Given the description of an element on the screen output the (x, y) to click on. 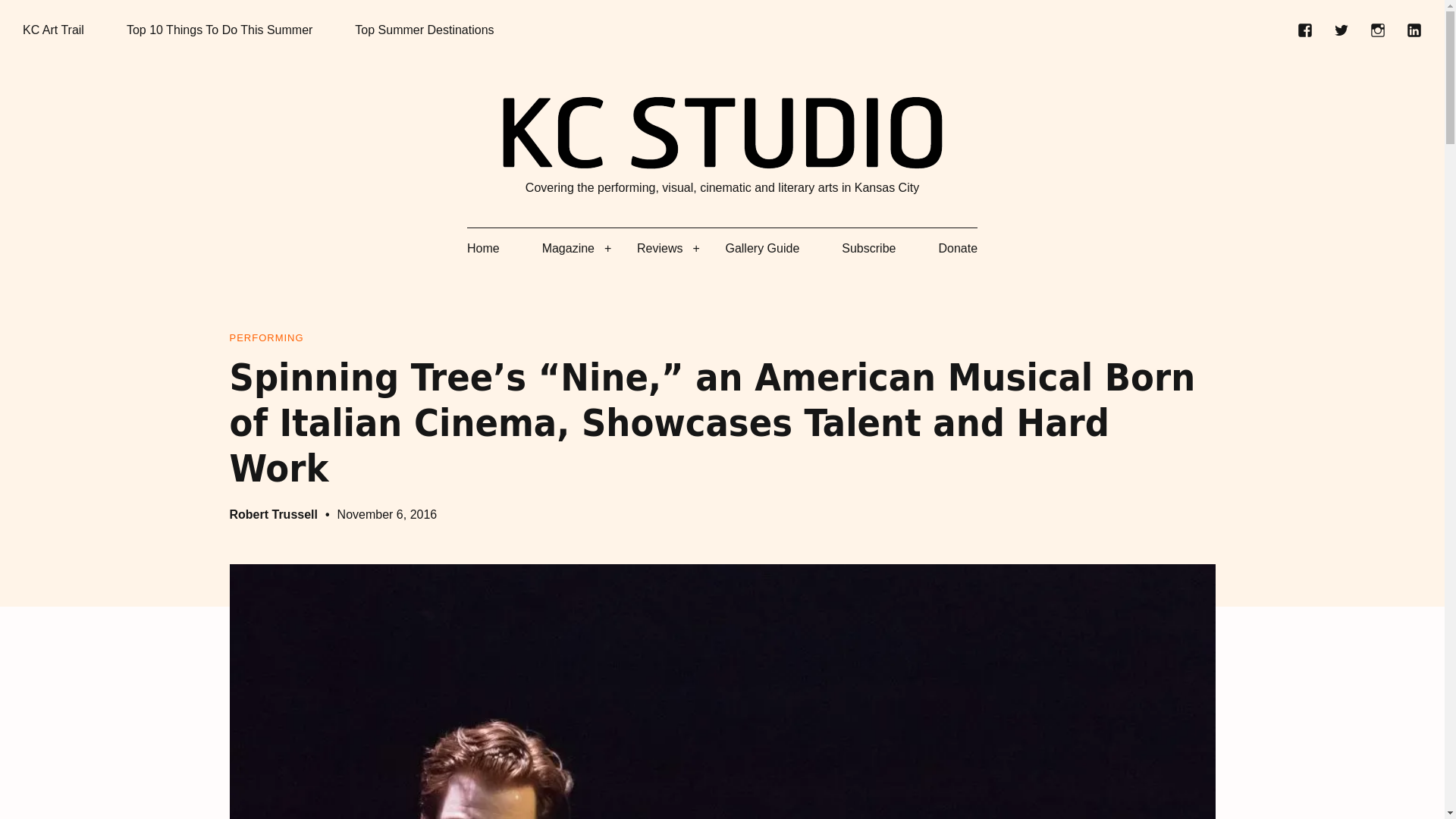
Donate (956, 248)
November 6, 2016 (387, 513)
Magazine (567, 248)
PERFORMING (265, 337)
Gallery Guide (762, 248)
Subscribe (868, 248)
Top Summer Destinations (424, 29)
Top 10 Things To Do This Summer (219, 29)
Instagram (1378, 29)
Reviews (659, 248)
